Given the description of an element on the screen output the (x, y) to click on. 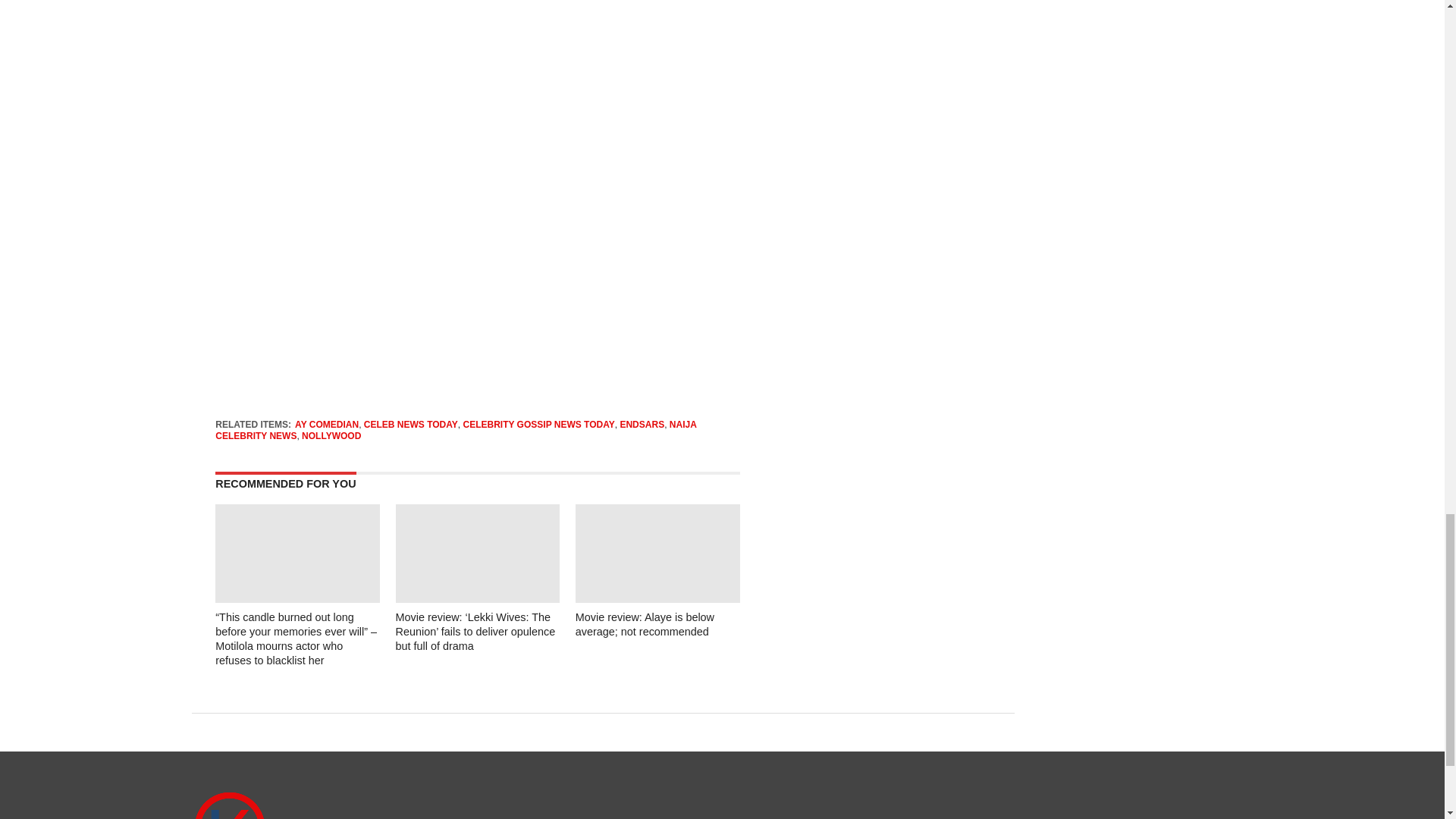
NAIJA CELEBRITY NEWS (455, 429)
AY COMEDIAN (326, 424)
CELEB NEWS TODAY (411, 424)
Movie review: Alaye is below average; not recommended (644, 624)
NOLLYWOOD (331, 435)
CELEBRITY GOSSIP NEWS TODAY (538, 424)
Movie review: Alaye is below average; not recommended (657, 598)
ENDSARS (641, 424)
